Given the description of an element on the screen output the (x, y) to click on. 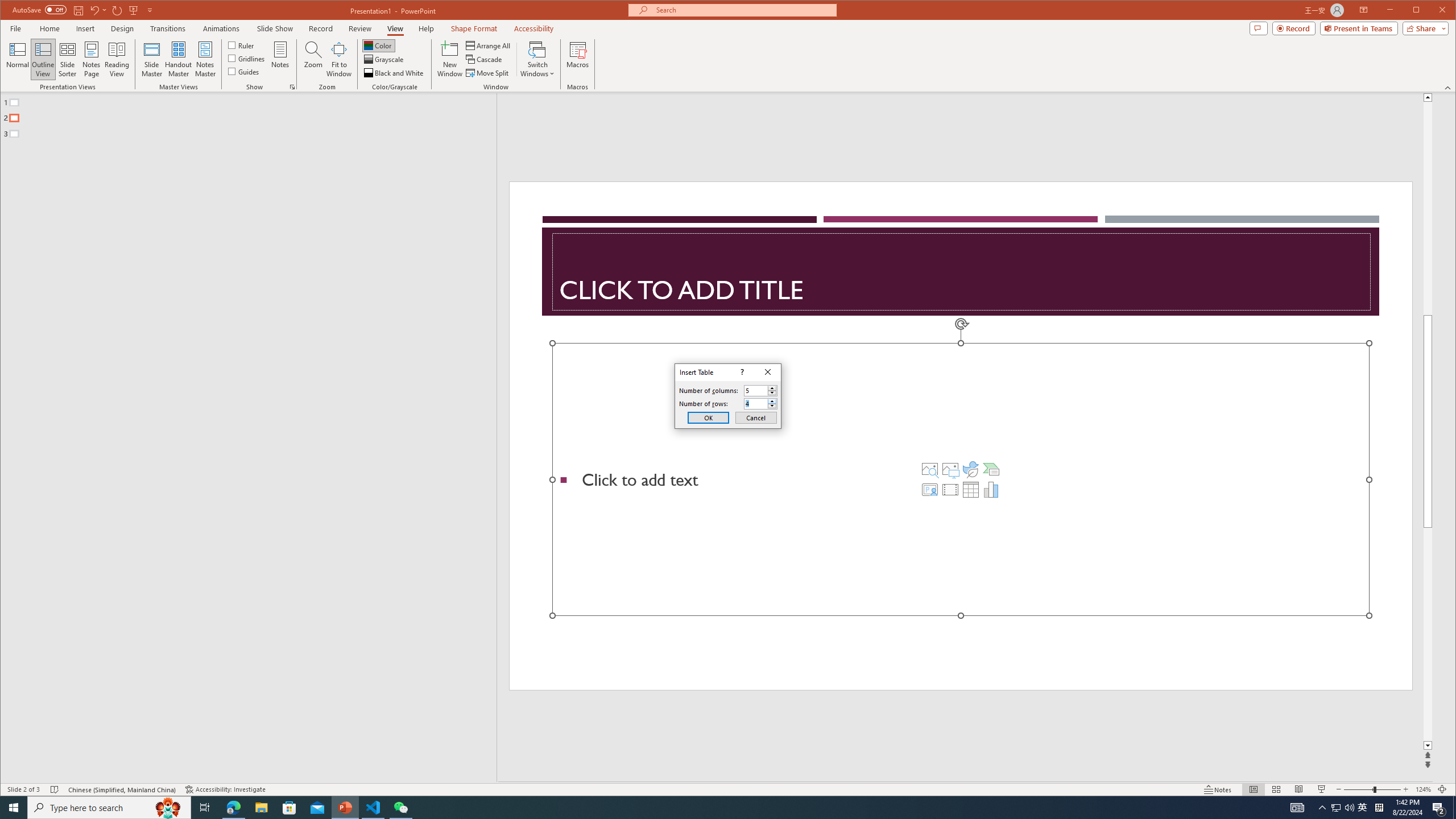
Cancel (756, 417)
Slide Master (151, 59)
Fit to Window (338, 59)
